Given the description of an element on the screen output the (x, y) to click on. 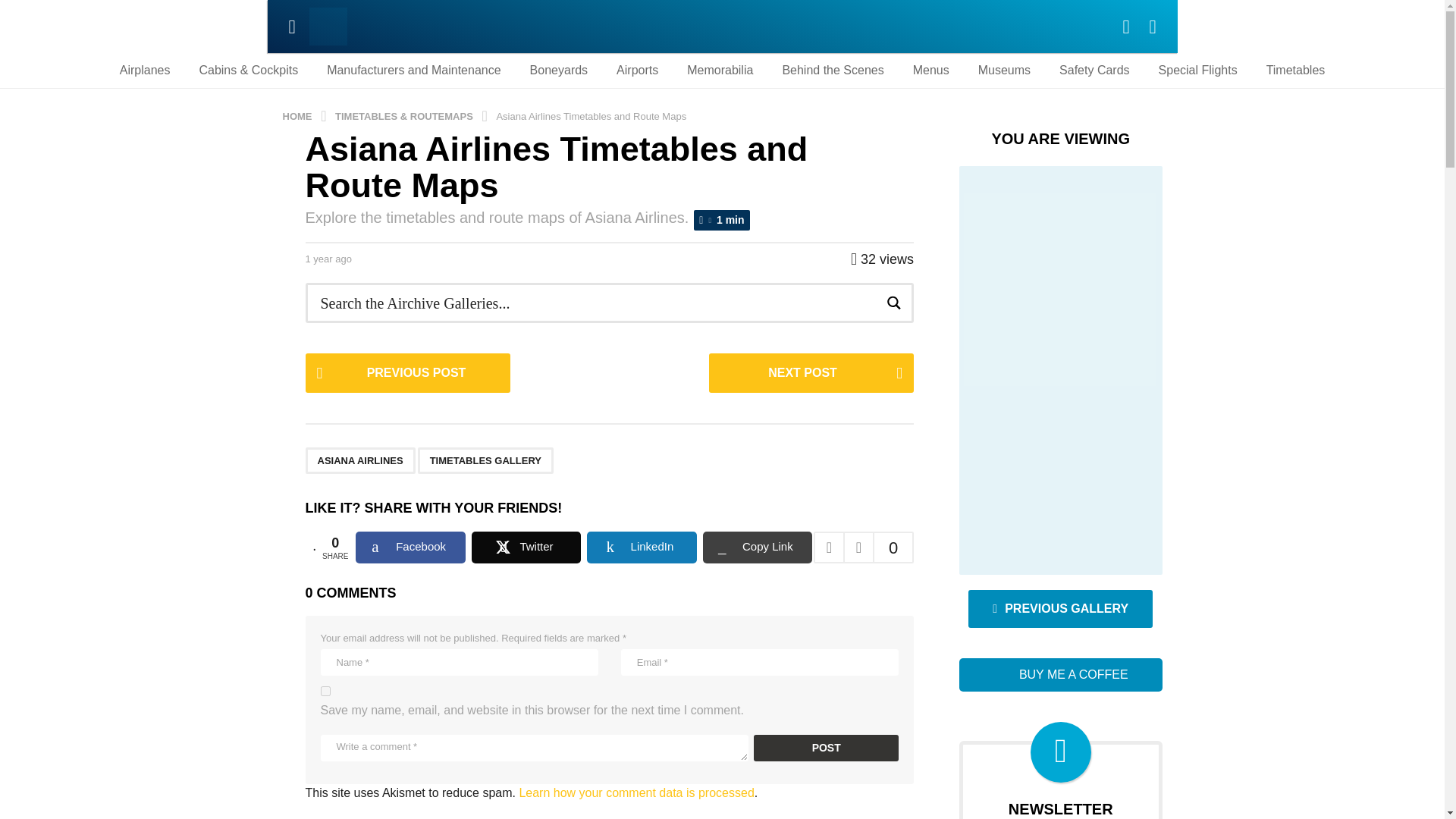
Post (826, 747)
yes (325, 691)
Airplanes (144, 70)
